Given the description of an element on the screen output the (x, y) to click on. 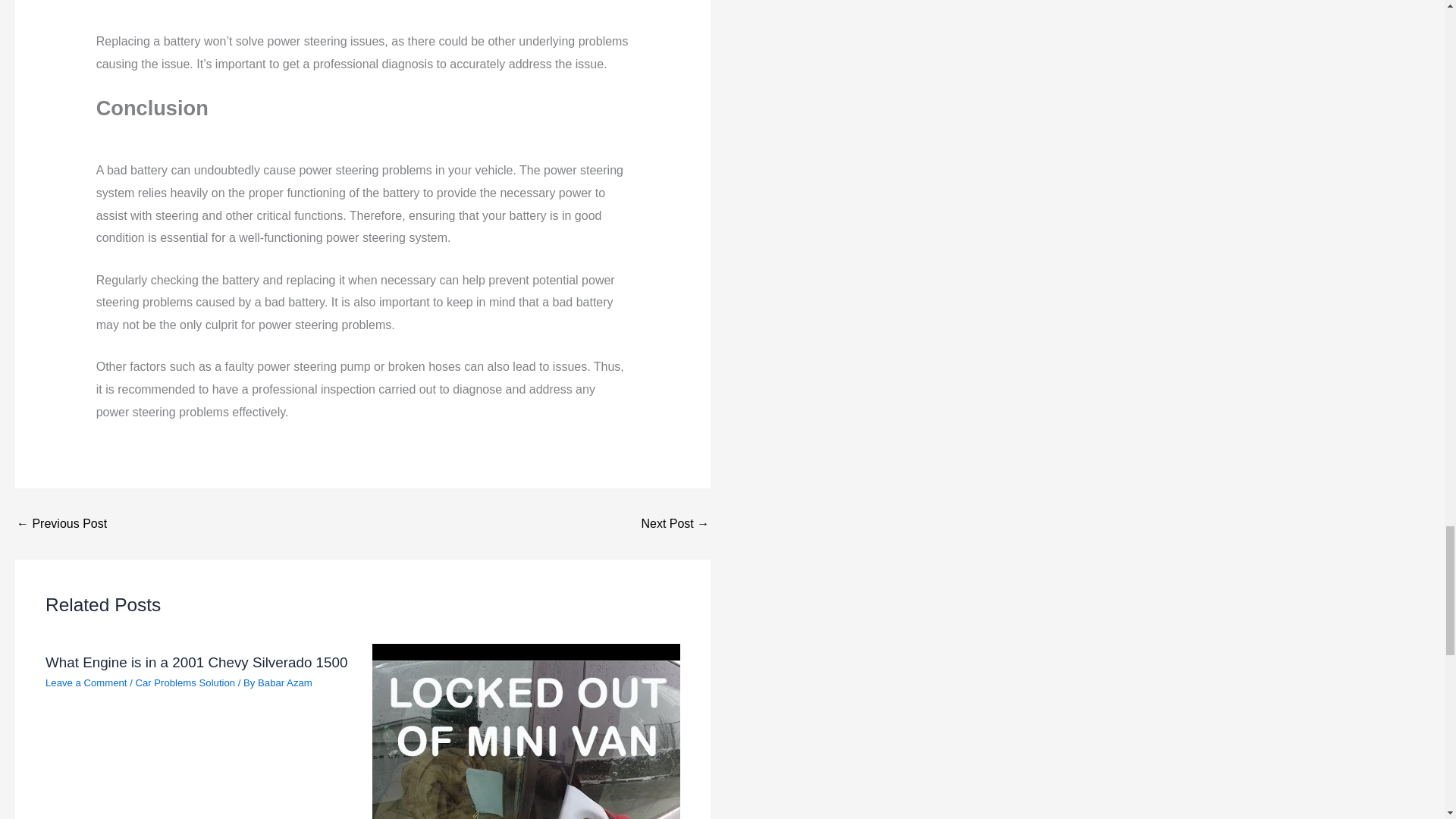
What is a Semi Loaded Brake Caliper? (674, 523)
View all posts by Babar Azam (285, 682)
How to Remove a Stuck Wheel Bearing (61, 523)
Leave a Comment (86, 682)
Car Problems Solution (184, 682)
Babar Azam (285, 682)
What Engine is in a 2001 Chevy Silverado 1500 (196, 662)
